Given the description of an element on the screen output the (x, y) to click on. 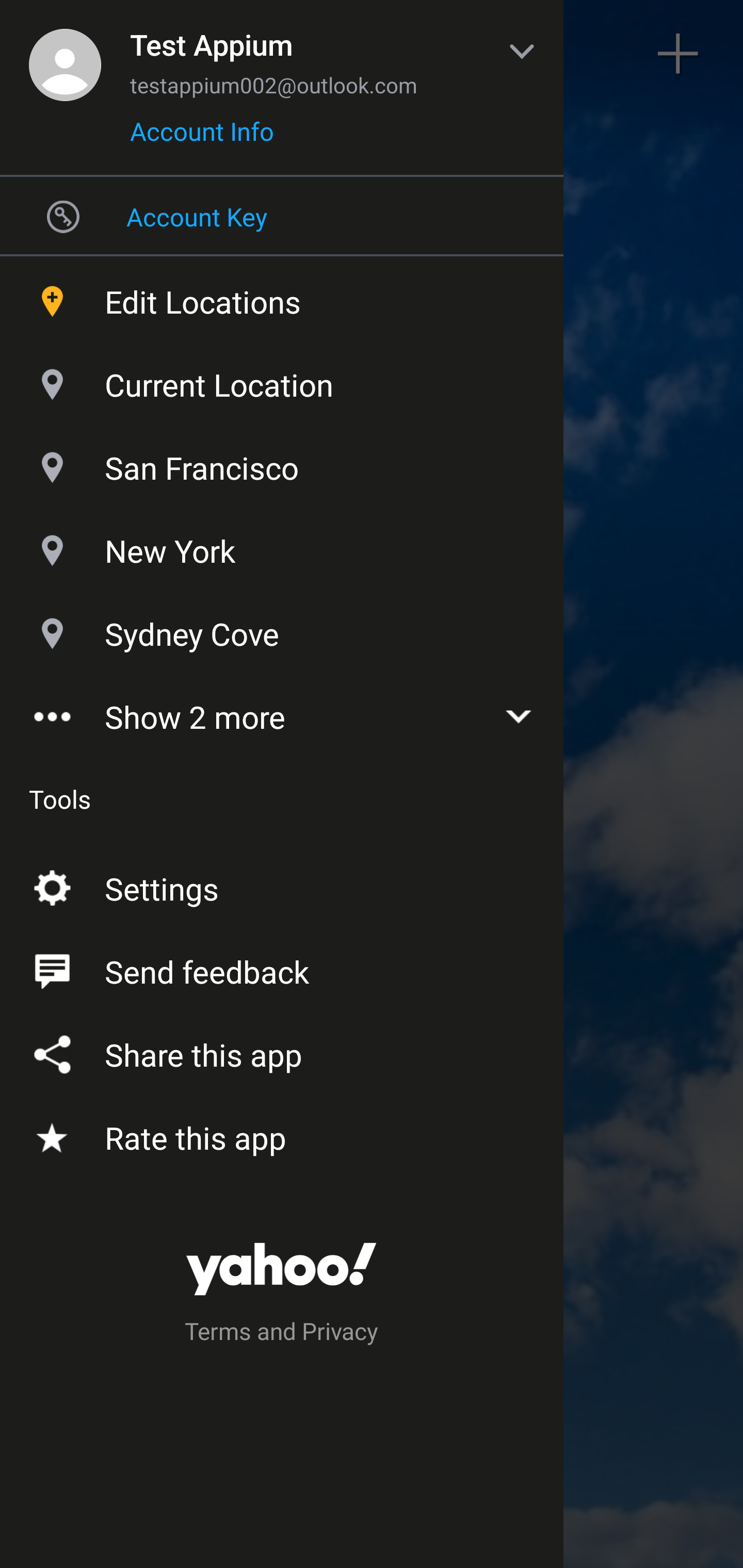
Sidebar (64, 54)
Account Info (202, 137)
Account Key (281, 216)
Edit Locations (281, 296)
Current Location (281, 379)
San Francisco (281, 462)
New York (281, 546)
Sydney Cove (281, 629)
Settings (281, 884)
Send feedback (281, 967)
Share this app (281, 1050)
Terms and Privacy Terms and privacy button (281, 1334)
